Given the description of an element on the screen output the (x, y) to click on. 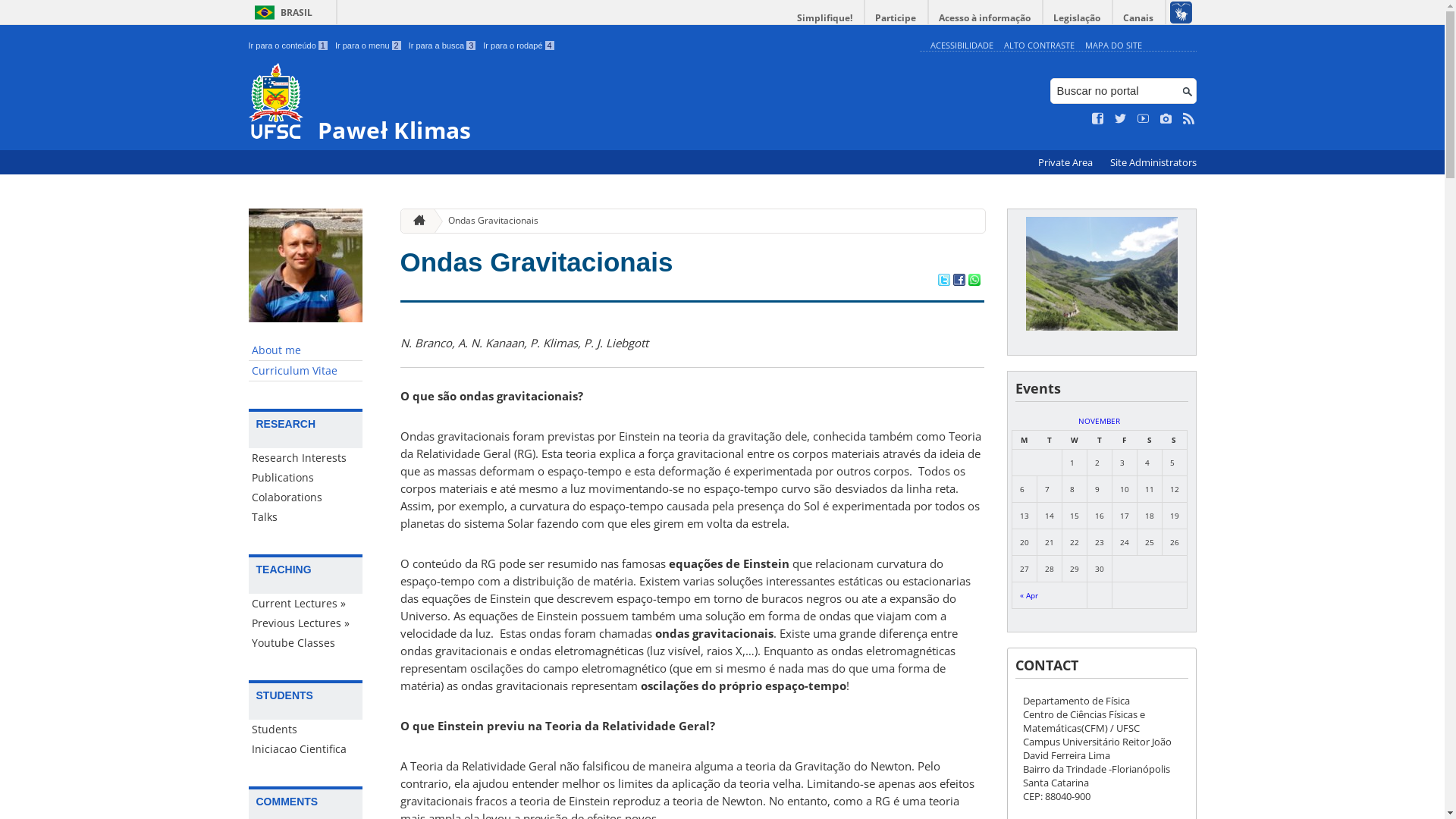
ACESSIBILIDADE Element type: text (960, 44)
ALTO CONTRASTE Element type: text (1039, 44)
Ir para o menu 2 Element type: text (368, 45)
Siga no Twitter Element type: hover (1120, 118)
Compartilhar no Facebook Element type: hover (958, 280)
Ondas Gravitacionais Element type: text (536, 261)
Iniciacao Cientifica Element type: text (305, 749)
Ondas Gravitacionais Element type: text (486, 220)
About me Element type: text (305, 350)
Participe Element type: text (895, 18)
Colaborations Element type: text (305, 497)
Curta no Facebook Element type: hover (1098, 118)
Private Area Element type: text (1065, 162)
Compartilhar no WhatsApp Element type: hover (973, 280)
NOVEMBER Element type: text (1099, 420)
Students Element type: text (305, 729)
Veja no Instagram Element type: hover (1166, 118)
MAPA DO SITE Element type: text (1112, 44)
Compartilhar no Twitter Element type: hover (943, 280)
Site Administrators Element type: text (1153, 162)
Simplifique! Element type: text (825, 18)
Research Interests Element type: text (305, 457)
BRASIL Element type: text (280, 12)
Curriculum Vitae Element type: text (305, 370)
Ir para a busca 3 Element type: text (442, 45)
Youtube Classes Element type: text (305, 642)
Canais Element type: text (1138, 18)
Publications Element type: text (305, 477)
Talks Element type: text (305, 517)
